Given the description of an element on the screen output the (x, y) to click on. 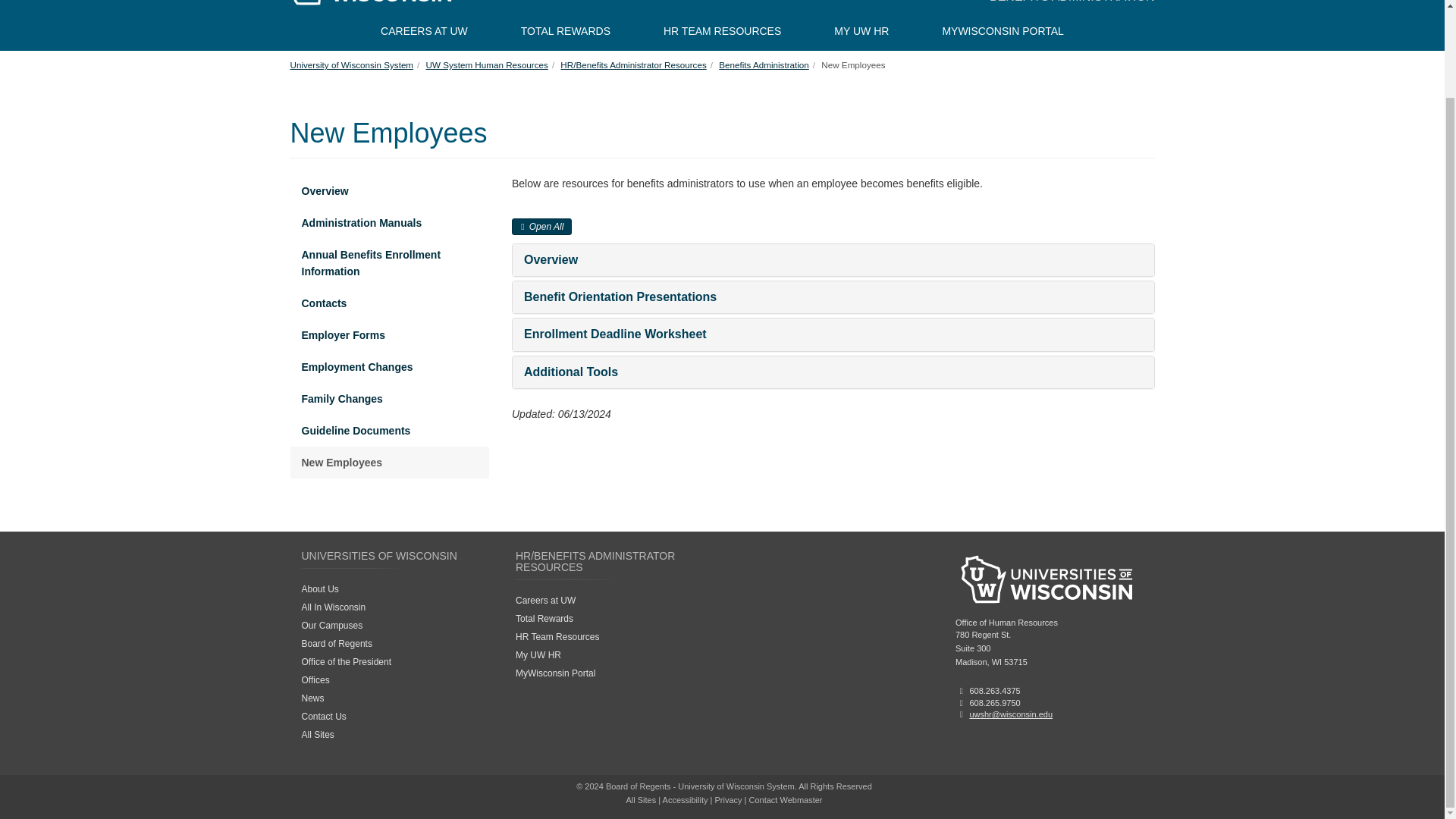
CAREERS AT UW (424, 30)
MYWISCONSIN PORTAL (1002, 30)
TOTAL REWARDS (565, 30)
MY UW HR (860, 30)
HR TEAM RESOURCES (722, 30)
UW System Human Resources (487, 64)
University of Wisconsin System (351, 64)
